Given the description of an element on the screen output the (x, y) to click on. 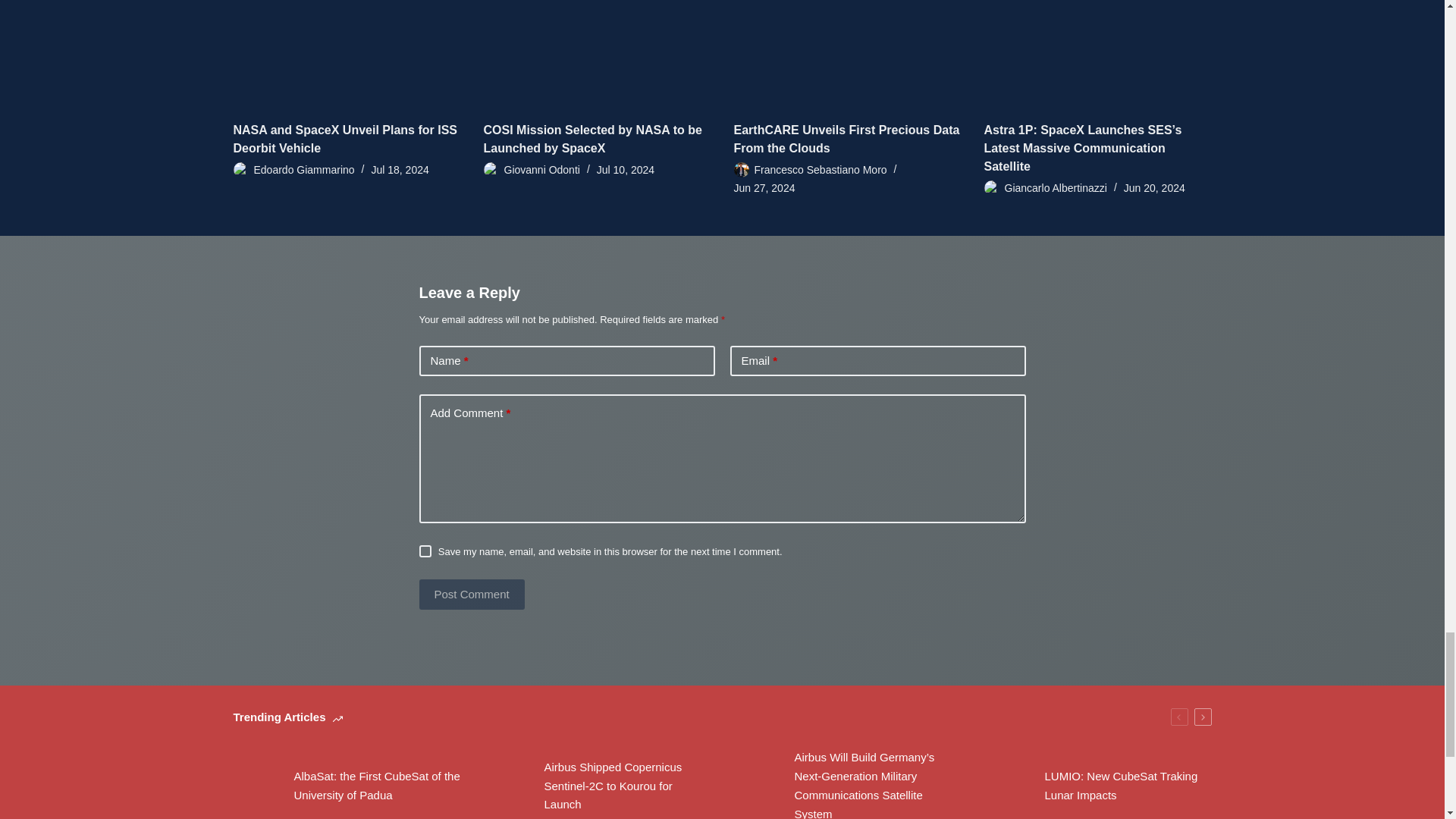
Posts by Giancarlo Albertinazzi (1055, 187)
Posts by Edoardo Giammarino (303, 169)
yes (424, 551)
Posts by Giovanni Odonti (541, 169)
Posts by Francesco Sebastiano Moro (820, 169)
